Given the description of an element on the screen output the (x, y) to click on. 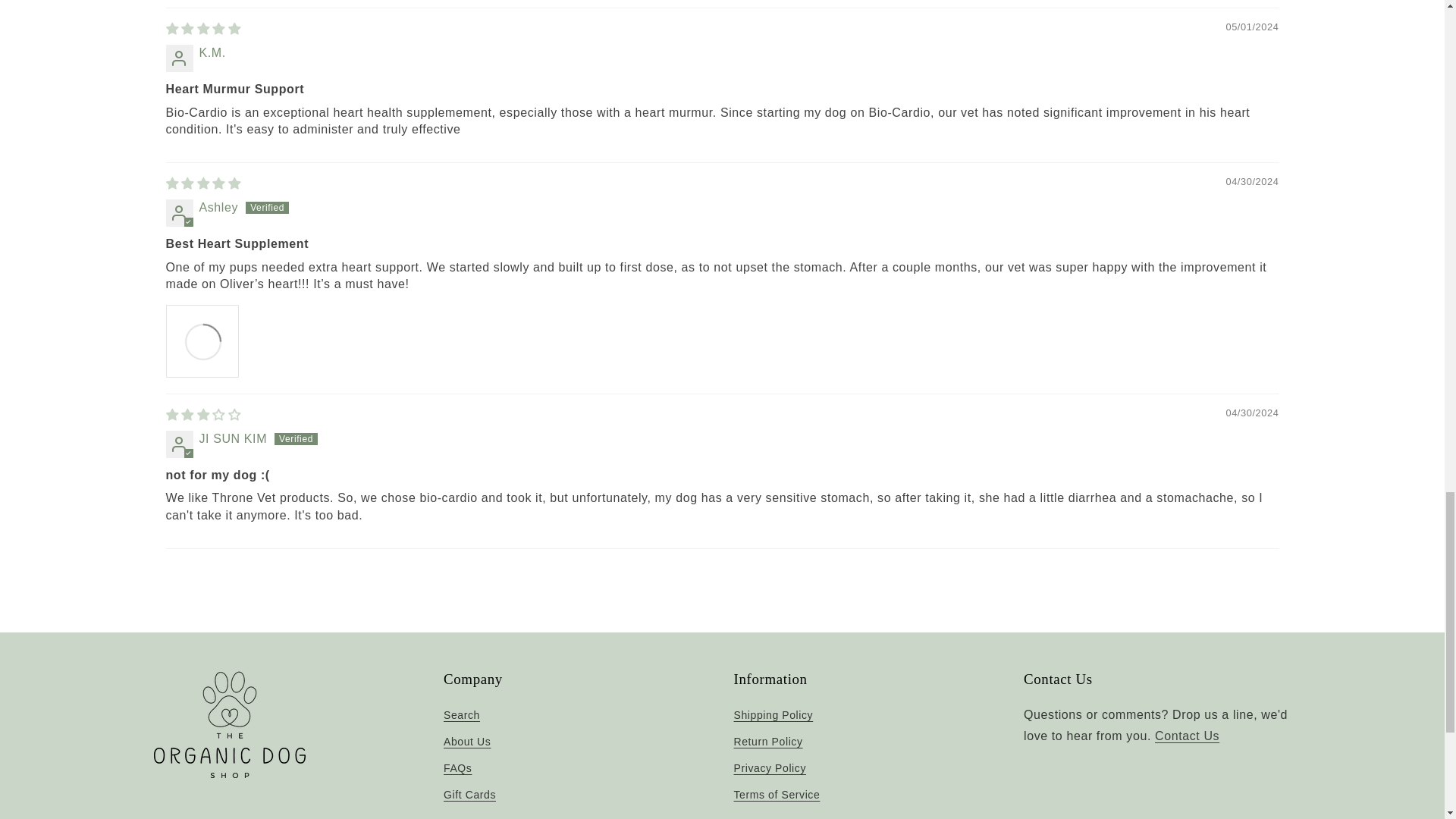
Contact (1187, 735)
